Given the description of an element on the screen output the (x, y) to click on. 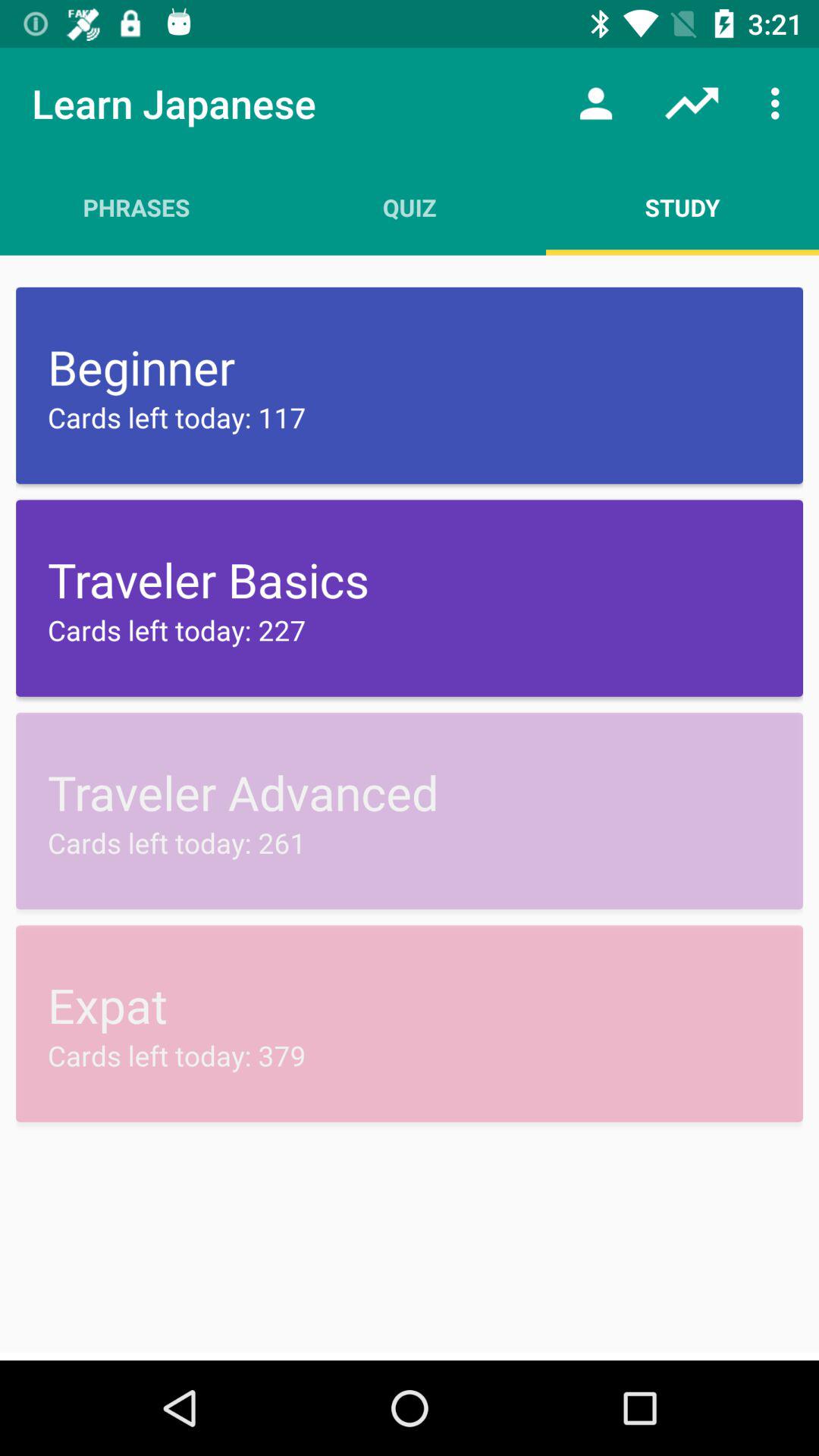
turn on the icon above the beginner icon (136, 207)
